Given the description of an element on the screen output the (x, y) to click on. 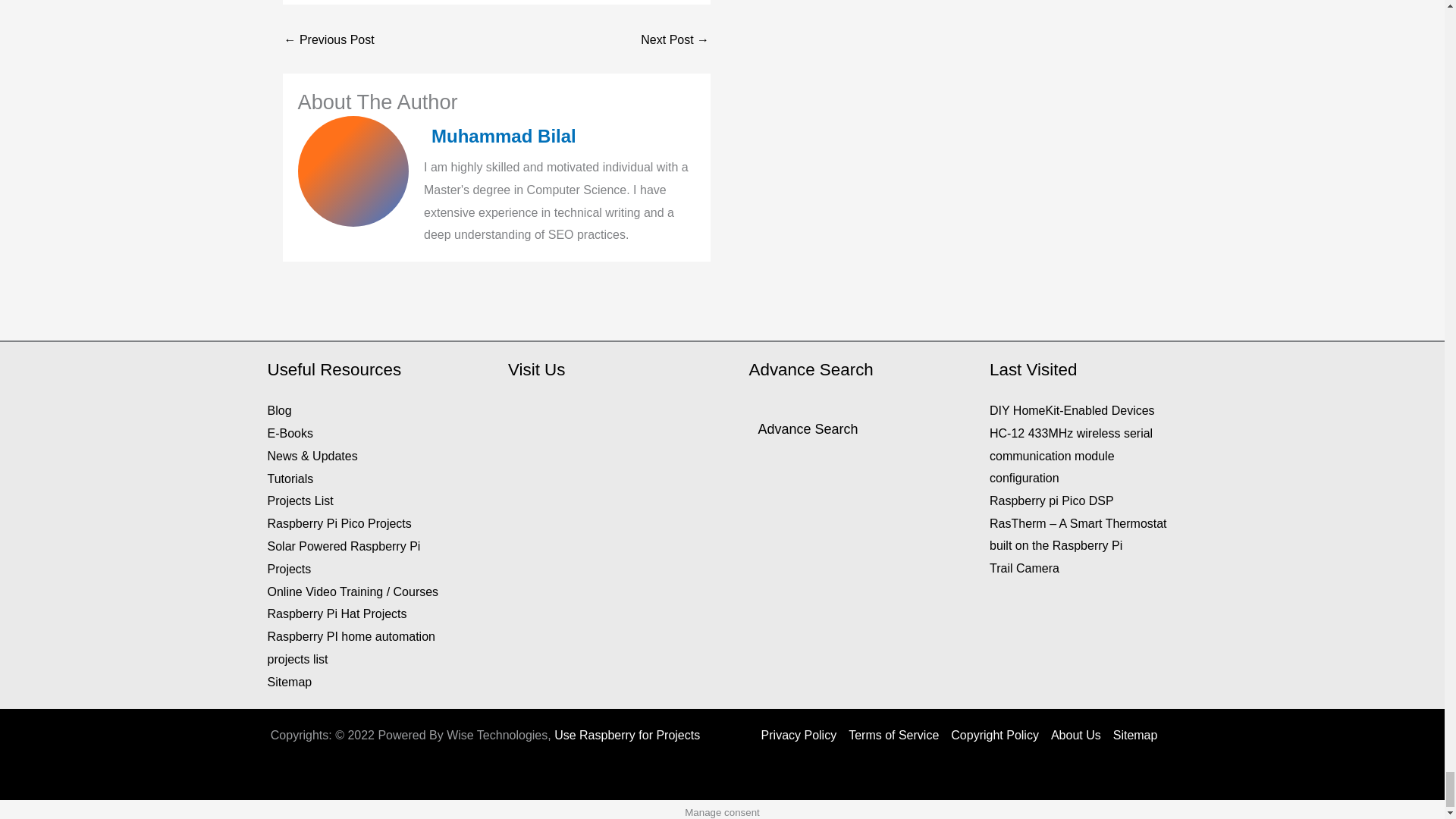
DESIGNING A LORA GATEWAY DURING A PART SHORTAGE (674, 39)
